Given the description of an element on the screen output the (x, y) to click on. 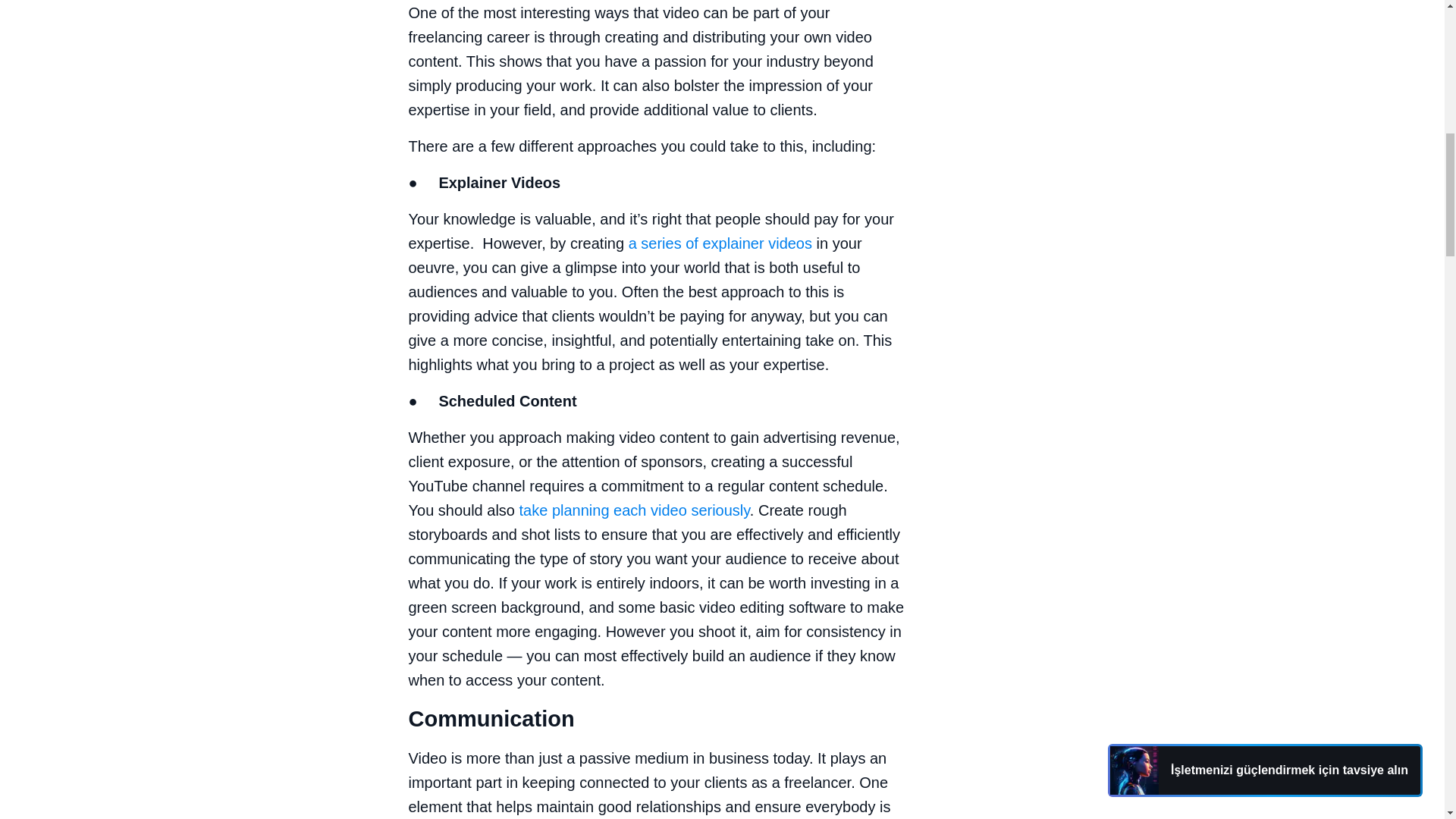
a series of explainer videos (720, 243)
take planning each video seriously (634, 510)
